Given the description of an element on the screen output the (x, y) to click on. 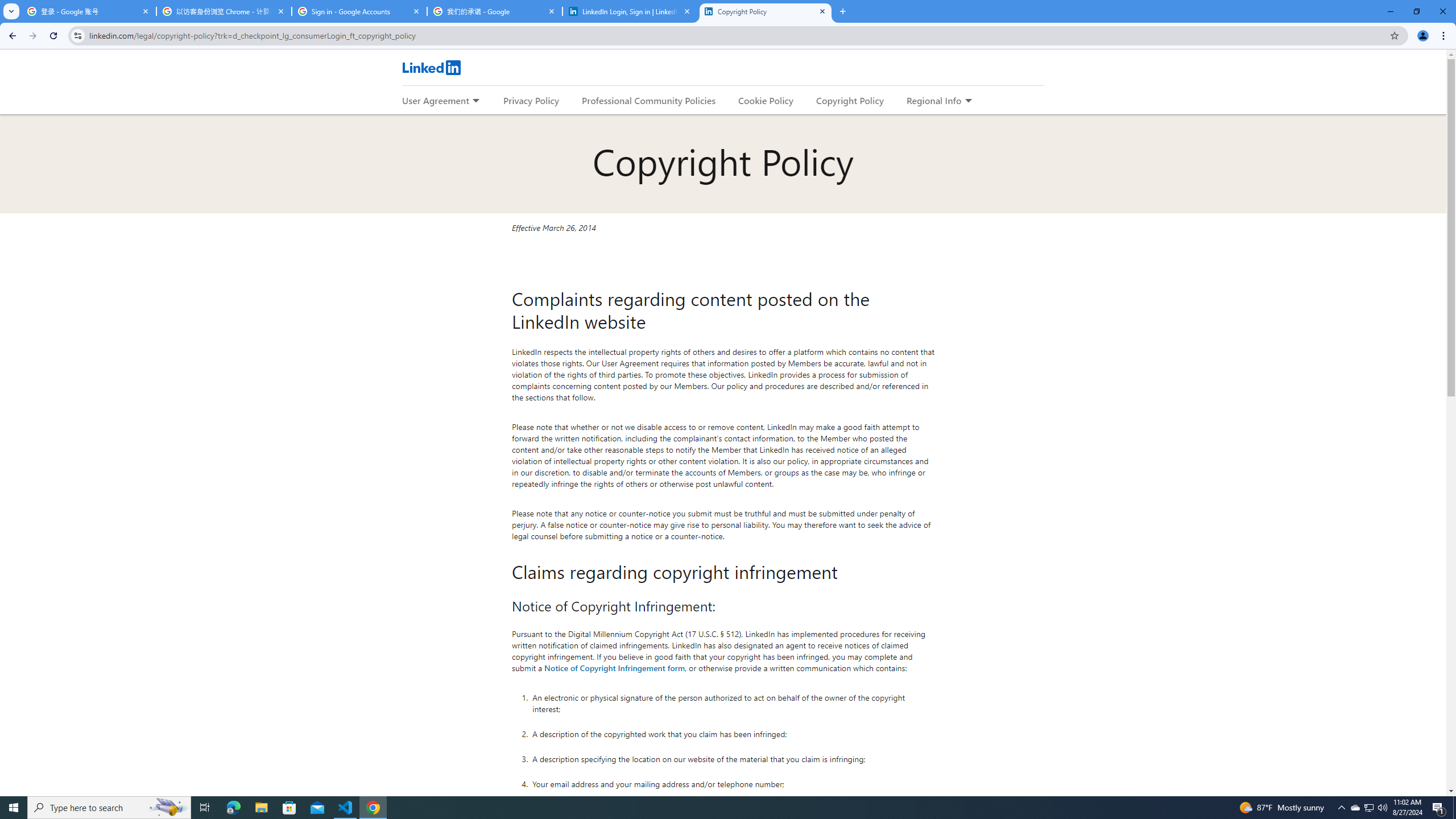
LinkedIn Login, Sign in | LinkedIn (630, 11)
Sign in - Google Accounts (359, 11)
Copyright Policy (765, 11)
User Agreement (434, 100)
Expand to show more links for Regional Info (967, 101)
Professional Community Policies (649, 100)
